Given the description of an element on the screen output the (x, y) to click on. 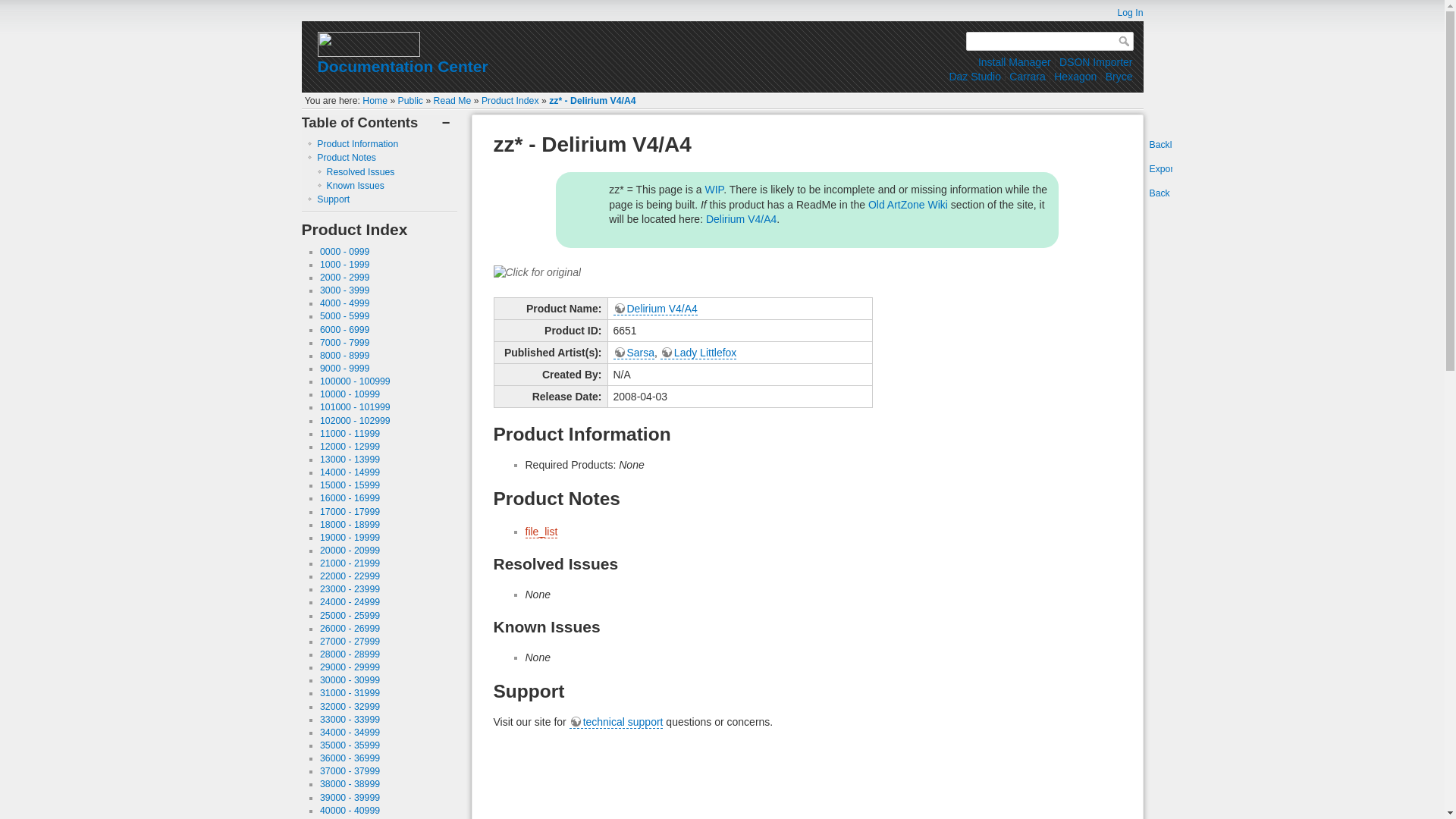
Log In (1122, 12)
101000 - 101999 (355, 407)
8000 - 8999 (344, 355)
5000 - 5999 (344, 316)
2000 - 2999 (344, 276)
1000 - 1999 (344, 264)
13000 - 13999 (350, 459)
Search (1125, 40)
14000 - 14999 (350, 471)
7000 - 7999 (344, 342)
Hexagon (1075, 76)
Log In (1122, 12)
100000 - 100999 (355, 380)
start (374, 100)
4000 - 4999 (344, 303)
